Given the description of an element on the screen output the (x, y) to click on. 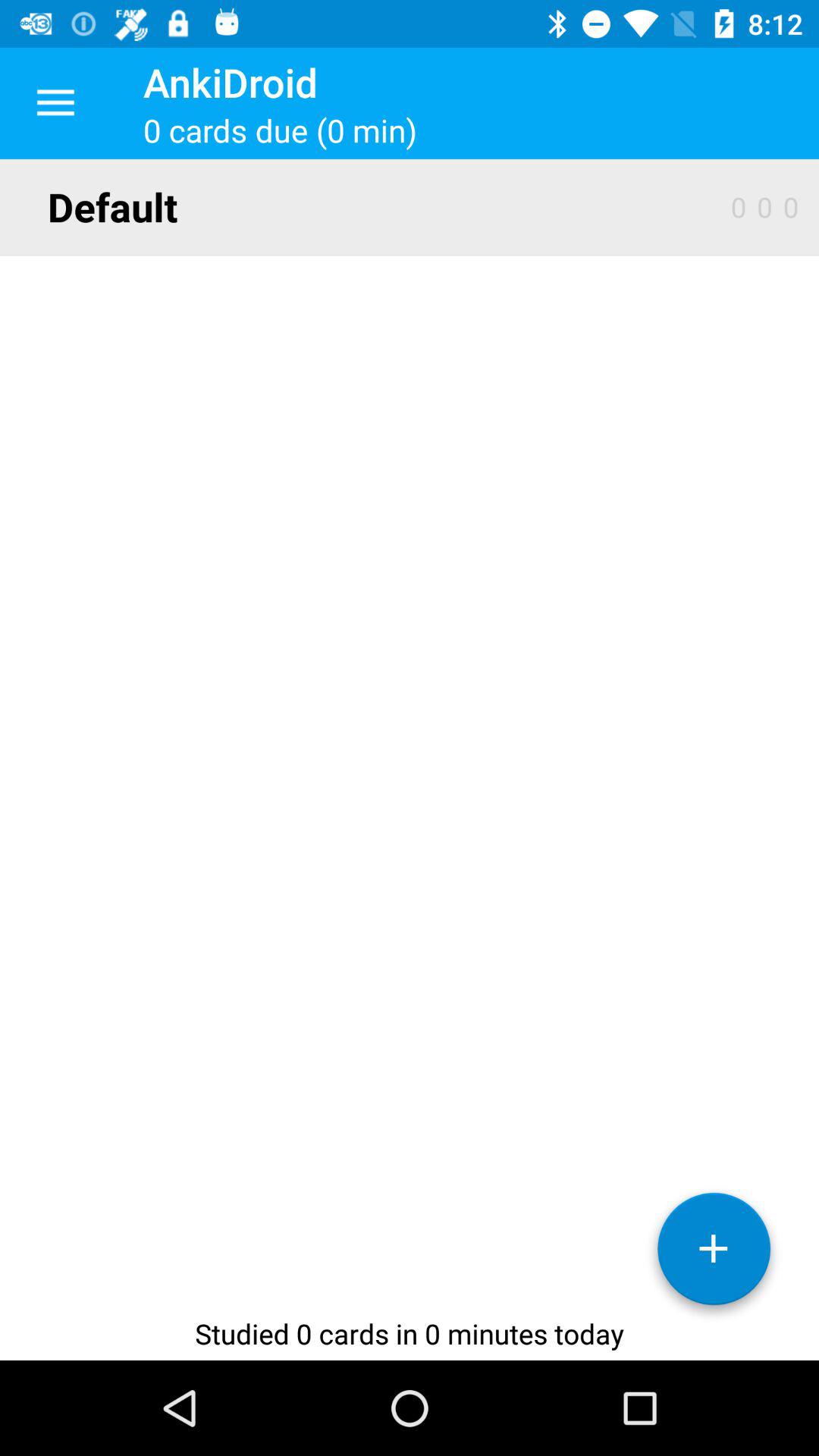
click the item below 0 (713, 1254)
